Given the description of an element on the screen output the (x, y) to click on. 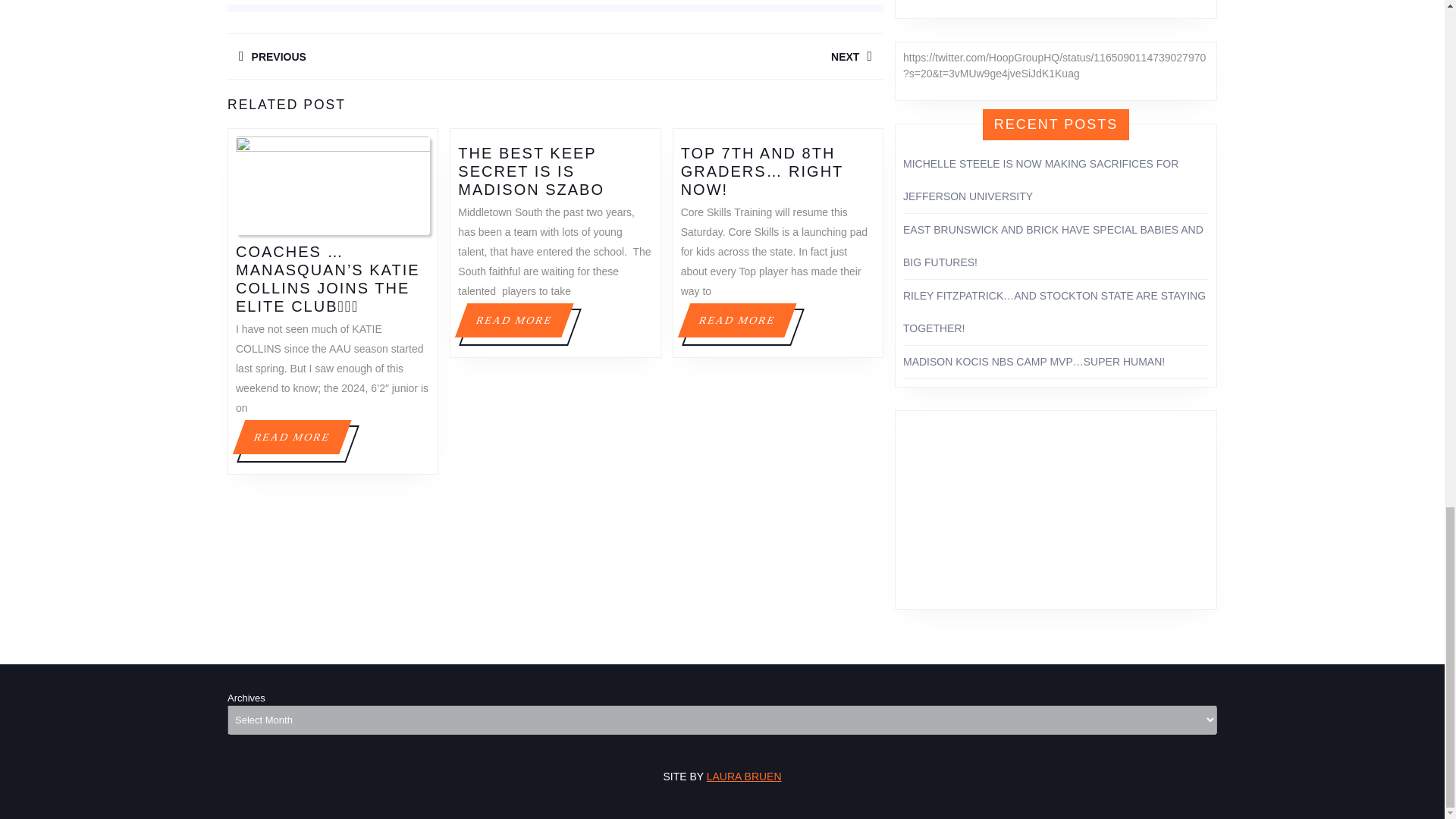
LAURA BRUEN (391, 56)
